Given the description of an element on the screen output the (x, y) to click on. 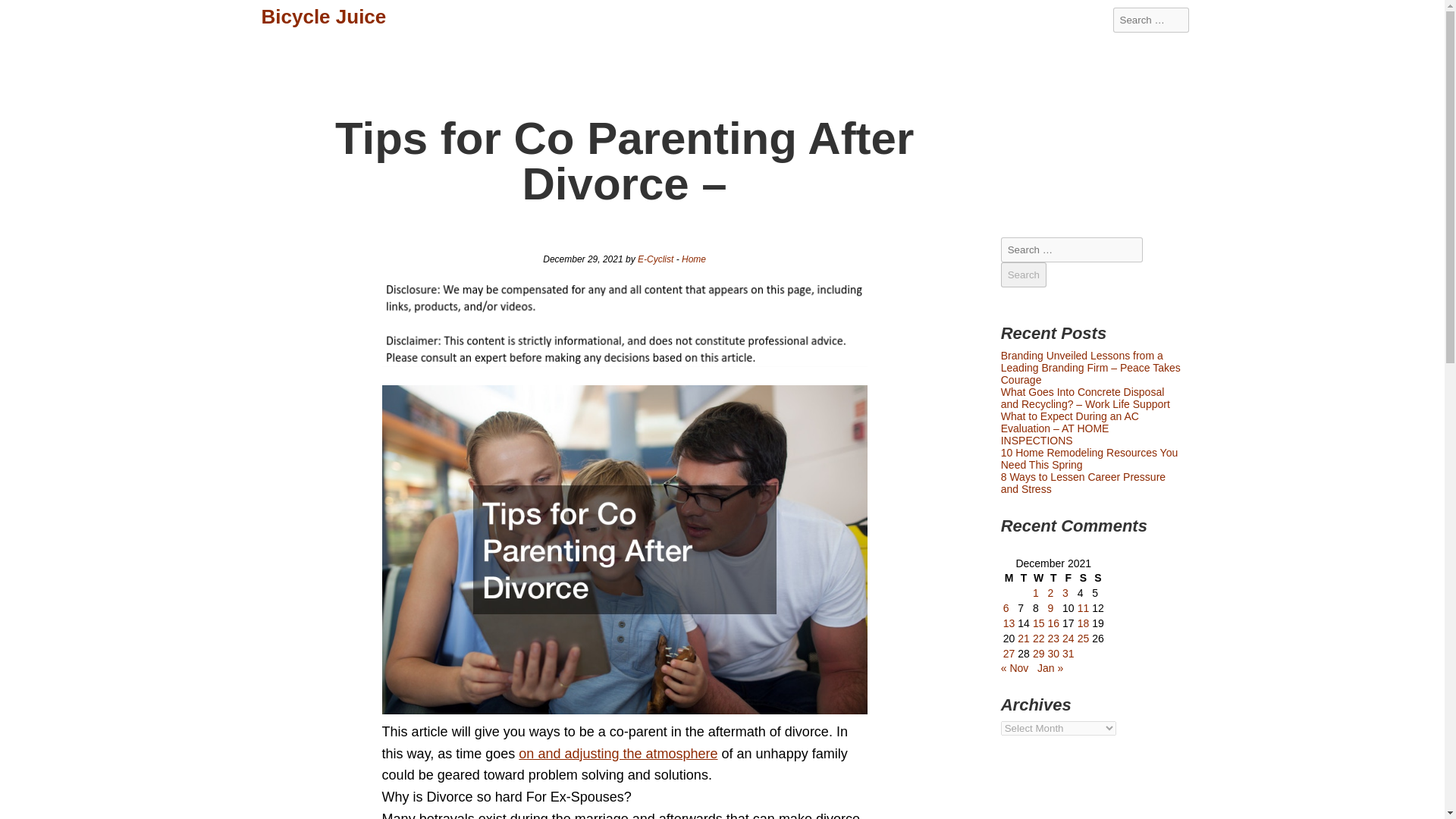
Posts by E-Cyclist (654, 258)
13 (1008, 623)
21 (1023, 638)
Bicycle Juice (323, 16)
22 (1038, 638)
Wednesday (1038, 577)
Search (22, 12)
23 (1052, 638)
30 (1052, 653)
27 (1008, 653)
